Given the description of an element on the screen output the (x, y) to click on. 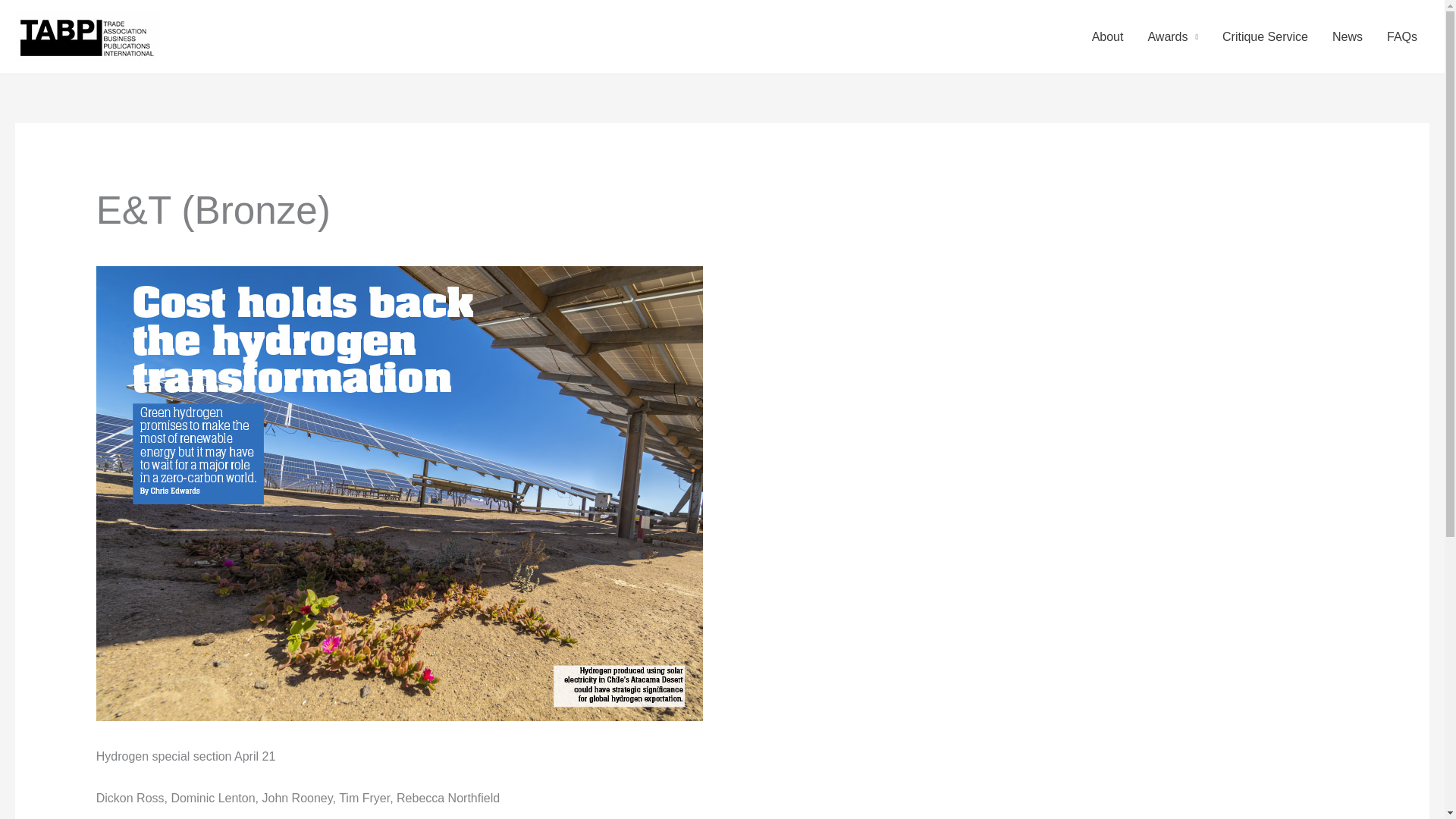
Critique Service (1264, 36)
News (1347, 36)
FAQs (1401, 36)
Awards (1172, 36)
About (1107, 36)
